Given the description of an element on the screen output the (x, y) to click on. 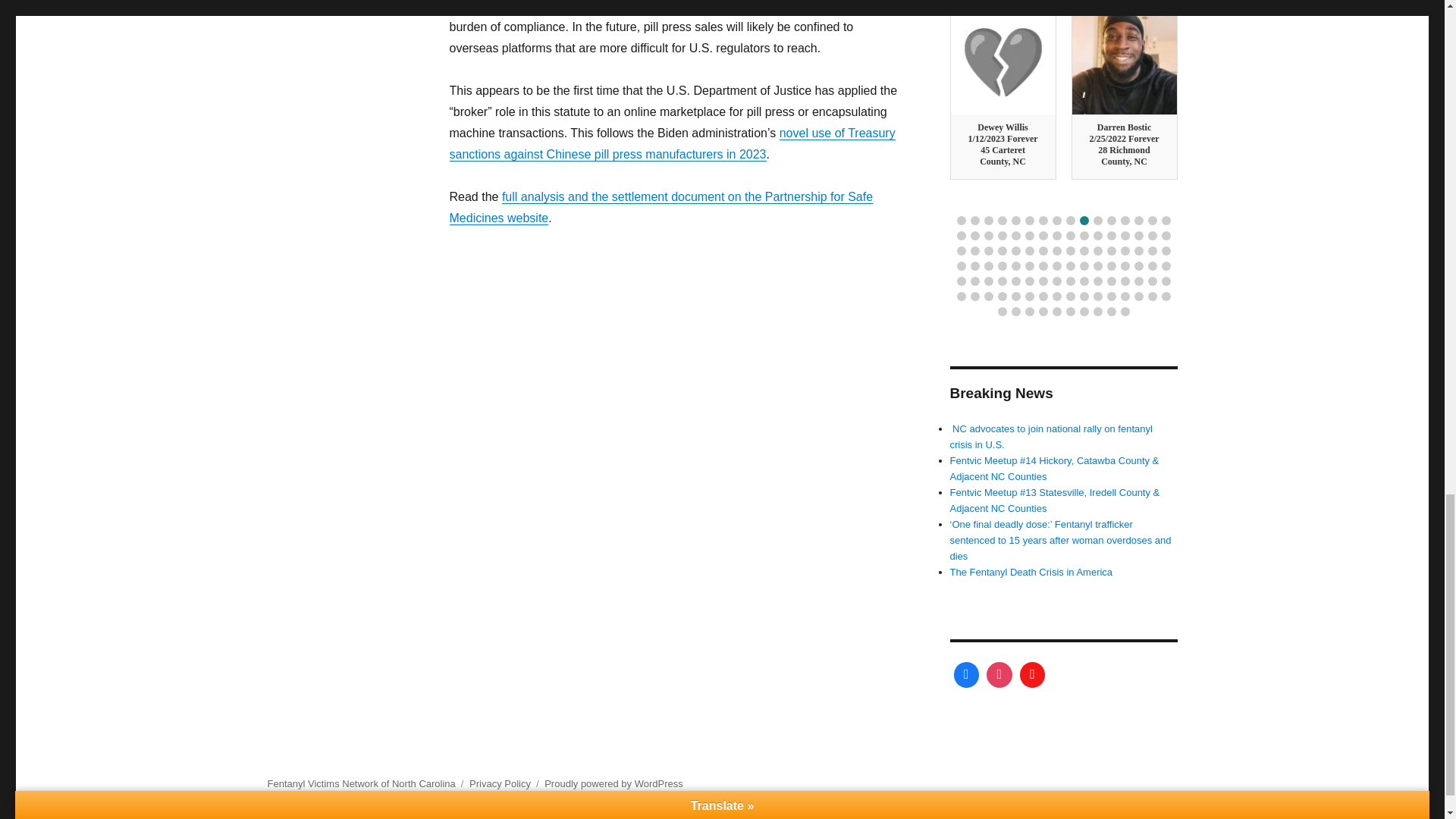
Facebook (965, 674)
Instagram (999, 674)
Youtube (1032, 674)
